Given the description of an element on the screen output the (x, y) to click on. 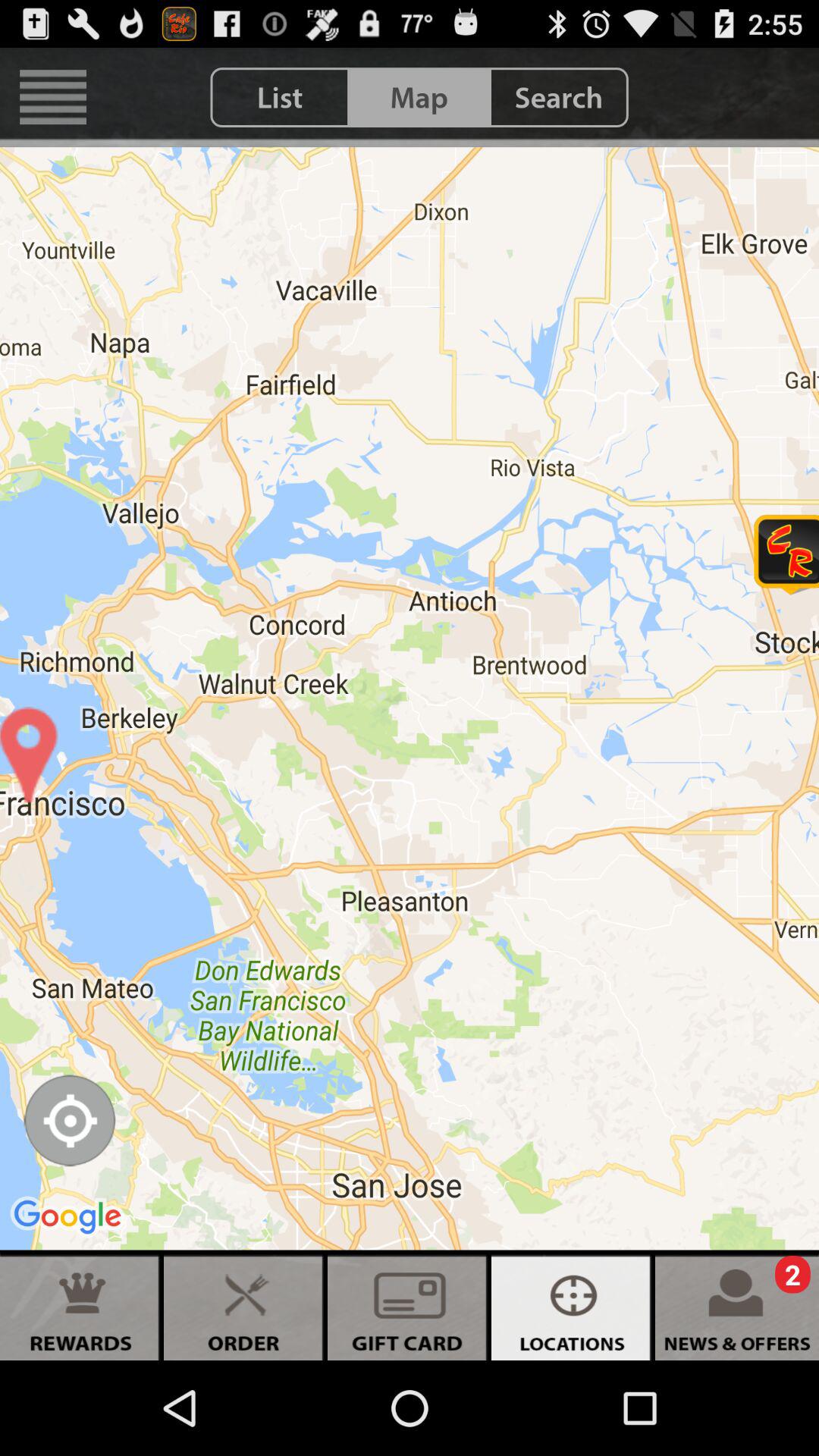
jump to list icon (279, 97)
